Given the description of an element on the screen output the (x, y) to click on. 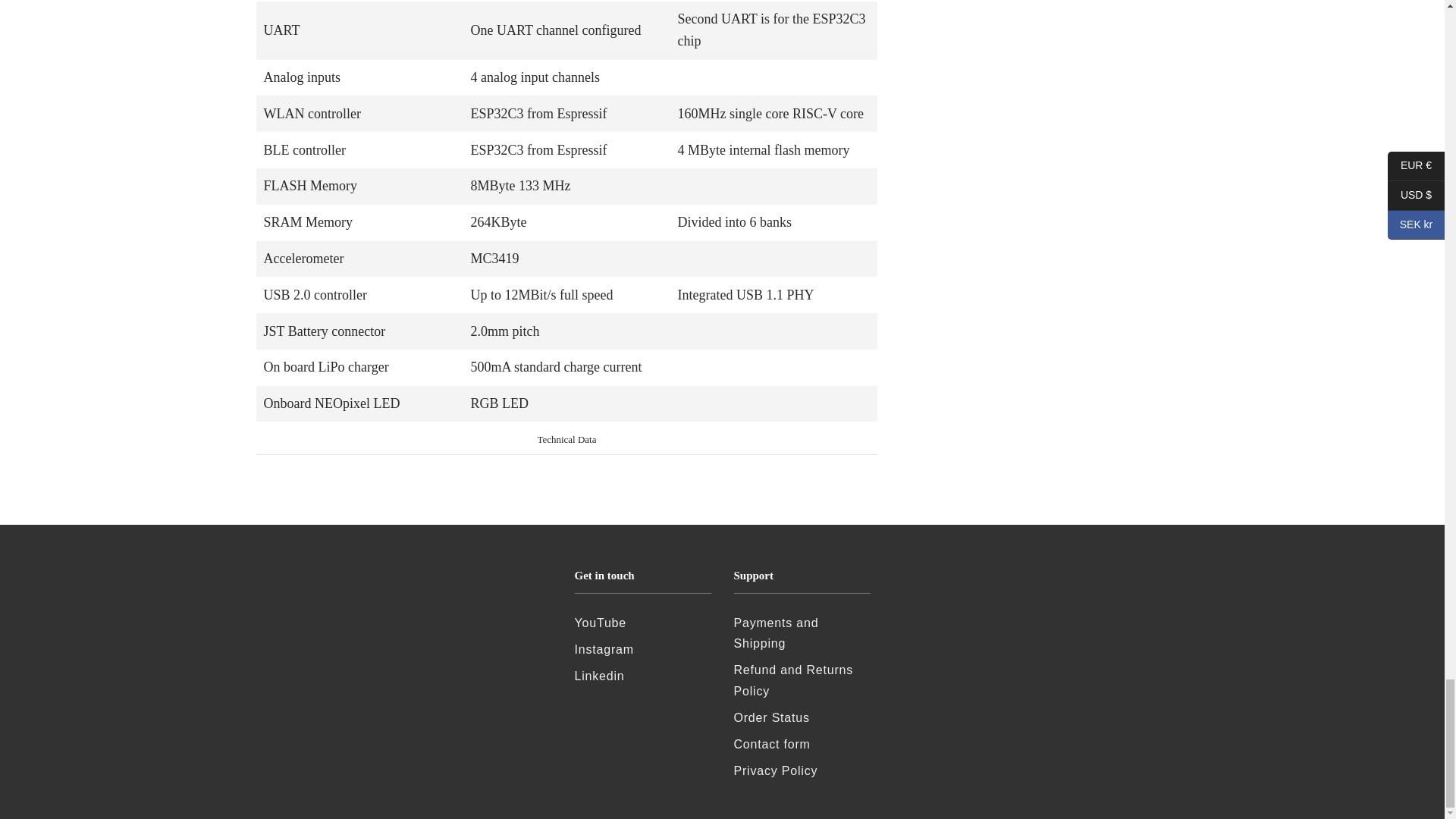
Payments and Shipping (775, 633)
Privacy Policy (775, 770)
YouTube (600, 622)
Refund and Returns Policy (793, 679)
Linkedin (599, 675)
Contact form (771, 744)
Order Status (771, 717)
Instagram (604, 649)
